Given the description of an element on the screen output the (x, y) to click on. 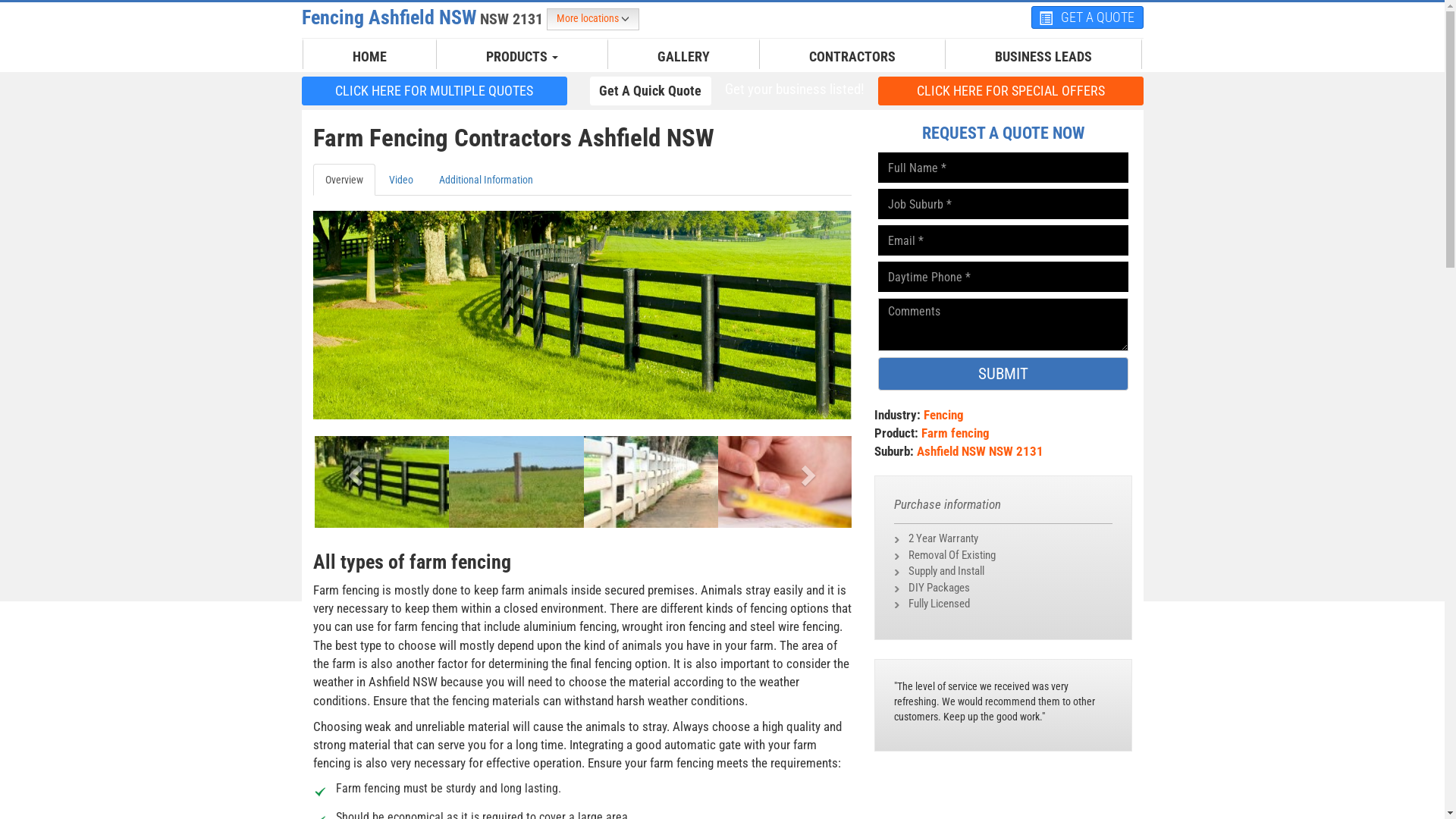
GALLERY Element type: text (683, 56)
CLICK HERE FOR MULTIPLE QUOTES Element type: text (434, 90)
CLICK HERE FOR SPECIAL OFFERS Element type: text (1010, 90)
CLICK HERE FOR MULTIPLE QUOTES Element type: text (434, 90)
Fencing Ashfield NSW NSW 2131 Element type: text (423, 17)
Video Element type: text (400, 179)
PRODUCTS Element type: text (521, 56)
More locations Element type: text (592, 19)
HOME Element type: text (369, 56)
Get A Quick Quote Element type: text (650, 90)
CLICK HERE FOR SPECIAL OFFERS Element type: text (1010, 90)
CONTRACTORS Element type: text (851, 56)
SUBMIT Element type: text (1003, 373)
Get A Quick Quote Element type: text (650, 90)
GET A QUOTE Element type: text (1087, 17)
prev Element type: hover (352, 470)
Additional Information Element type: text (485, 179)
BUSINESS LEADS Element type: text (1042, 56)
Get your business listed! Element type: text (793, 89)
Overview Element type: text (343, 179)
